Given the description of an element on the screen output the (x, y) to click on. 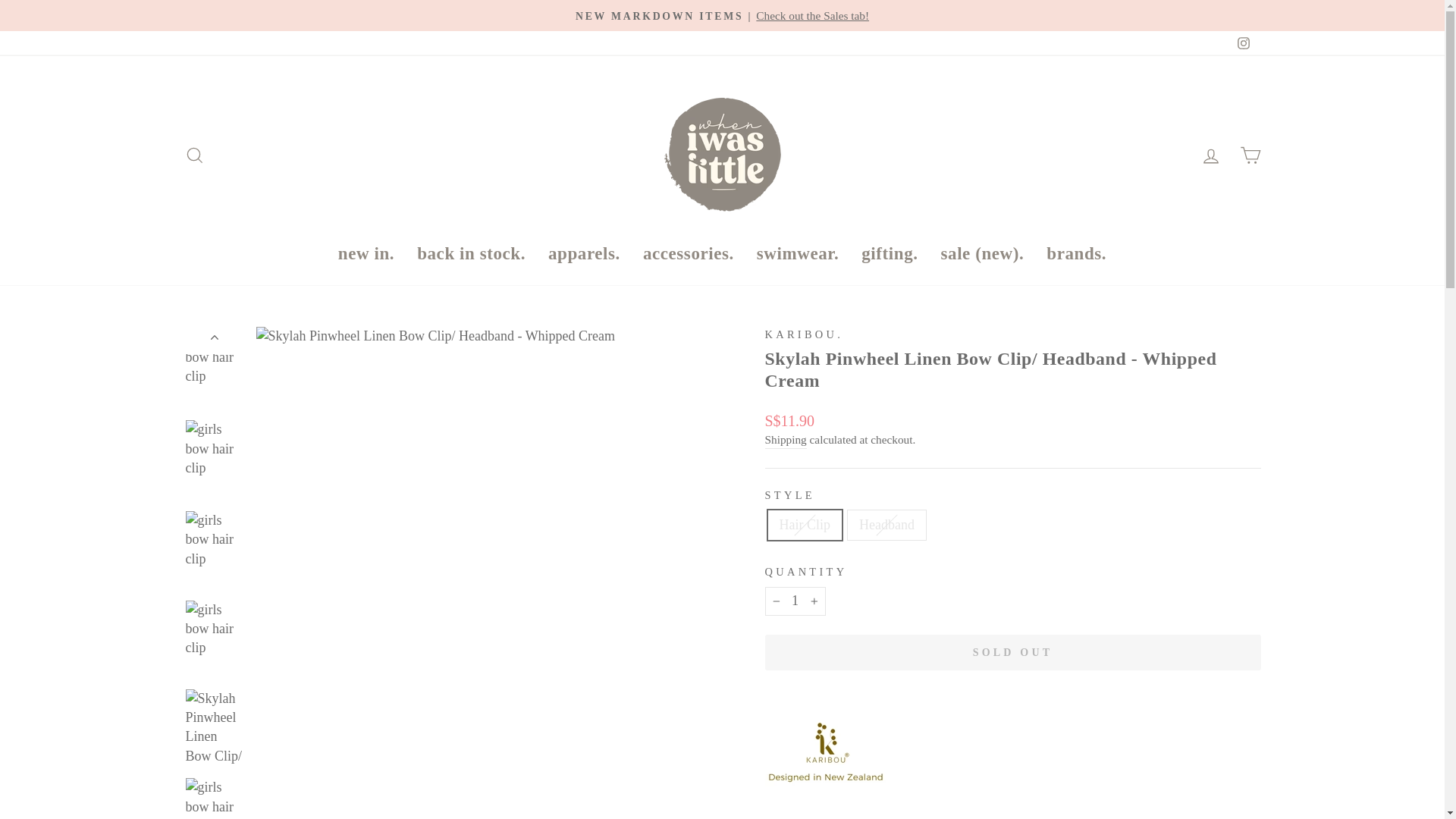
1 (794, 601)
